Given the description of an element on the screen output the (x, y) to click on. 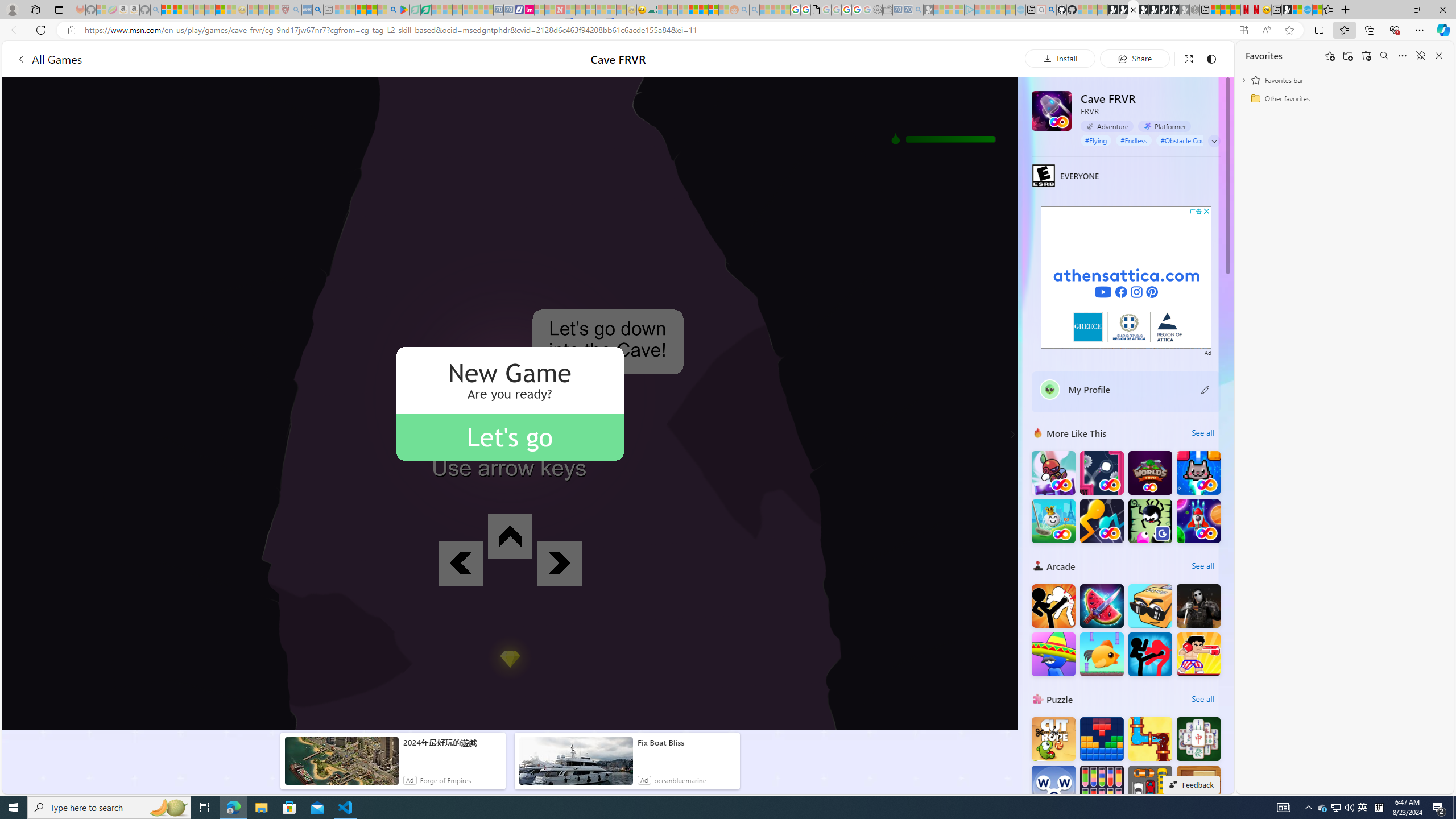
Sticky Goo (1149, 521)
Golf Gardens FRVR (1053, 521)
See all (1202, 698)
Share (1134, 58)
Puzzle (1037, 698)
Bluey: Let's Play! - Apps on Google Play (404, 9)
AutomationID: cbb (1206, 211)
EXIT : unblock red wood block (1198, 787)
Platformer (1164, 126)
